Given the description of an element on the screen output the (x, y) to click on. 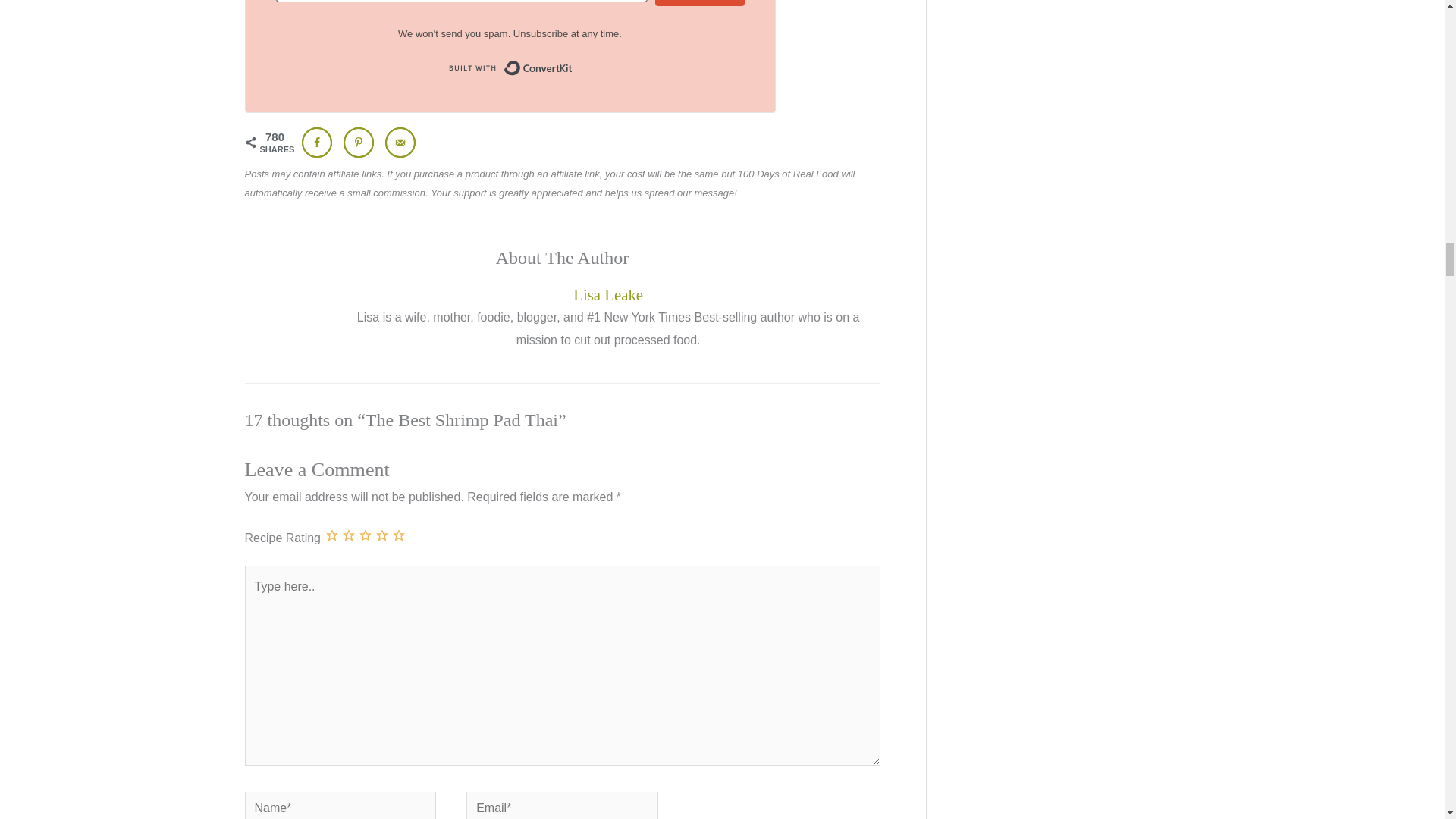
Share on Facebook (316, 142)
Send over email (399, 142)
Save to Pinterest (358, 142)
